Given the description of an element on the screen output the (x, y) to click on. 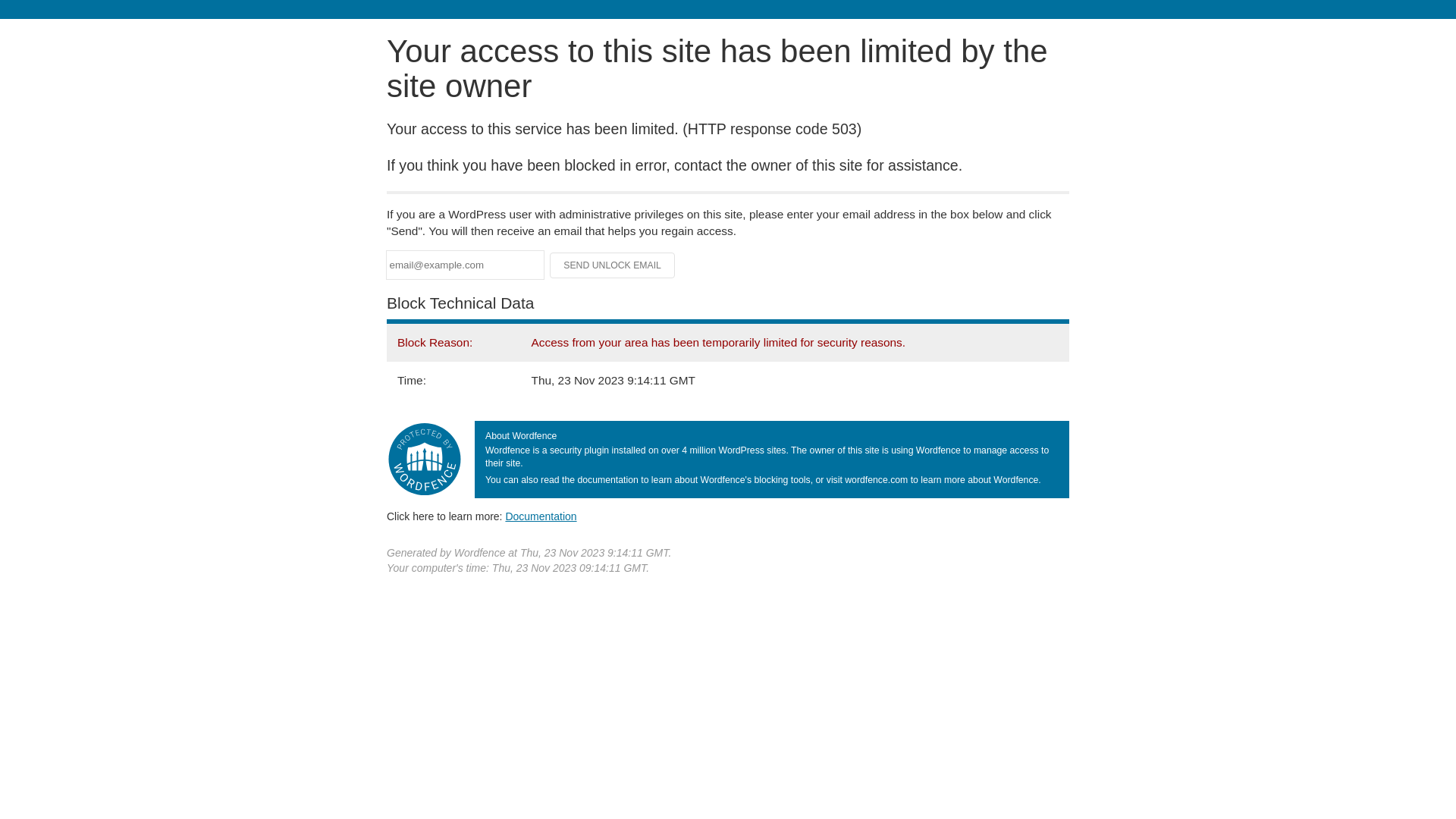
Documentation Element type: text (540, 516)
Send Unlock Email Element type: text (612, 265)
